Given the description of an element on the screen output the (x, y) to click on. 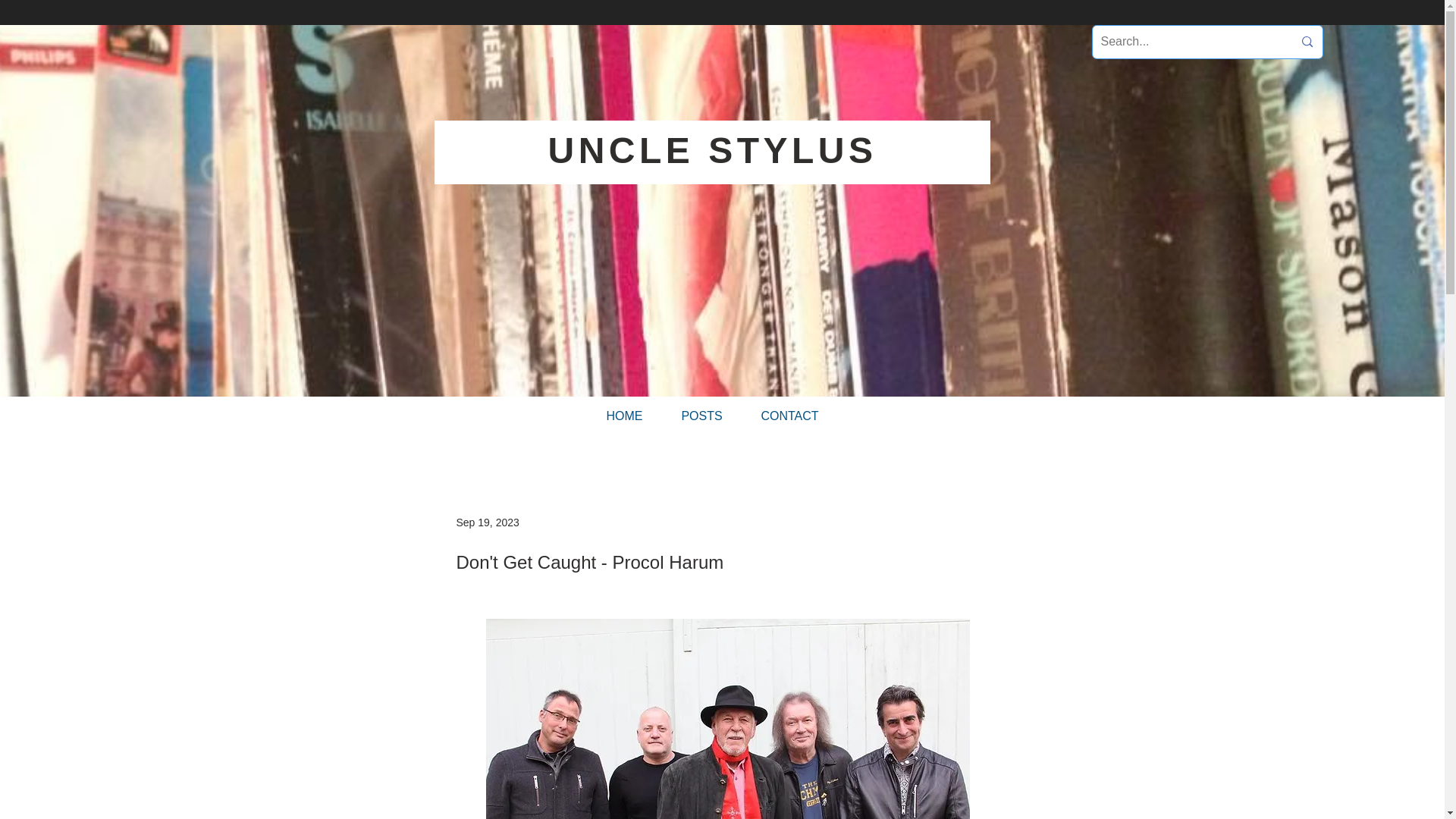
POSTS (701, 415)
Sep 19, 2023 (488, 521)
CONTACT (789, 415)
HOME (624, 415)
